Given the description of an element on the screen output the (x, y) to click on. 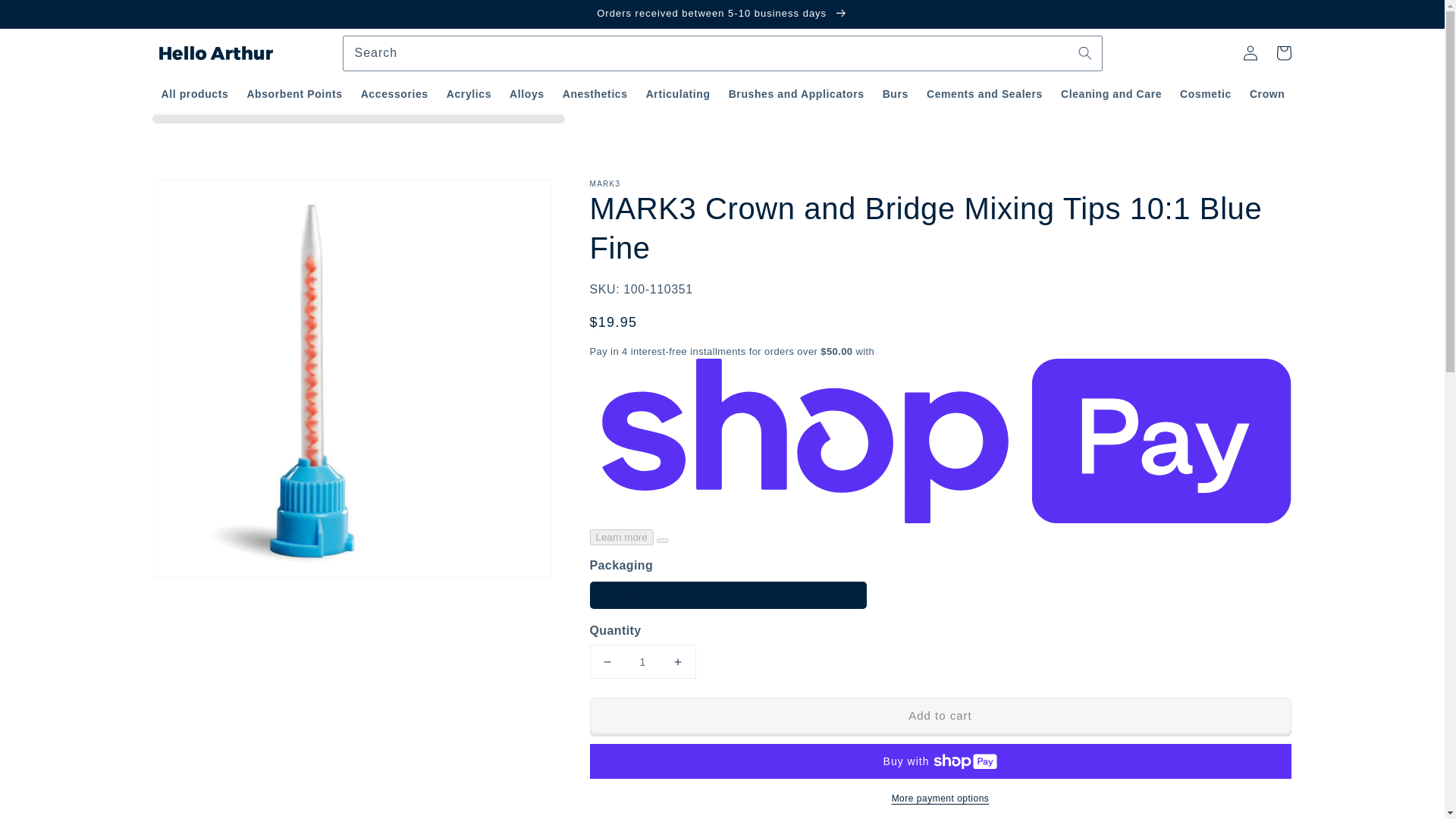
1 (642, 661)
Skip to content (45, 16)
